Given the description of an element on the screen output the (x, y) to click on. 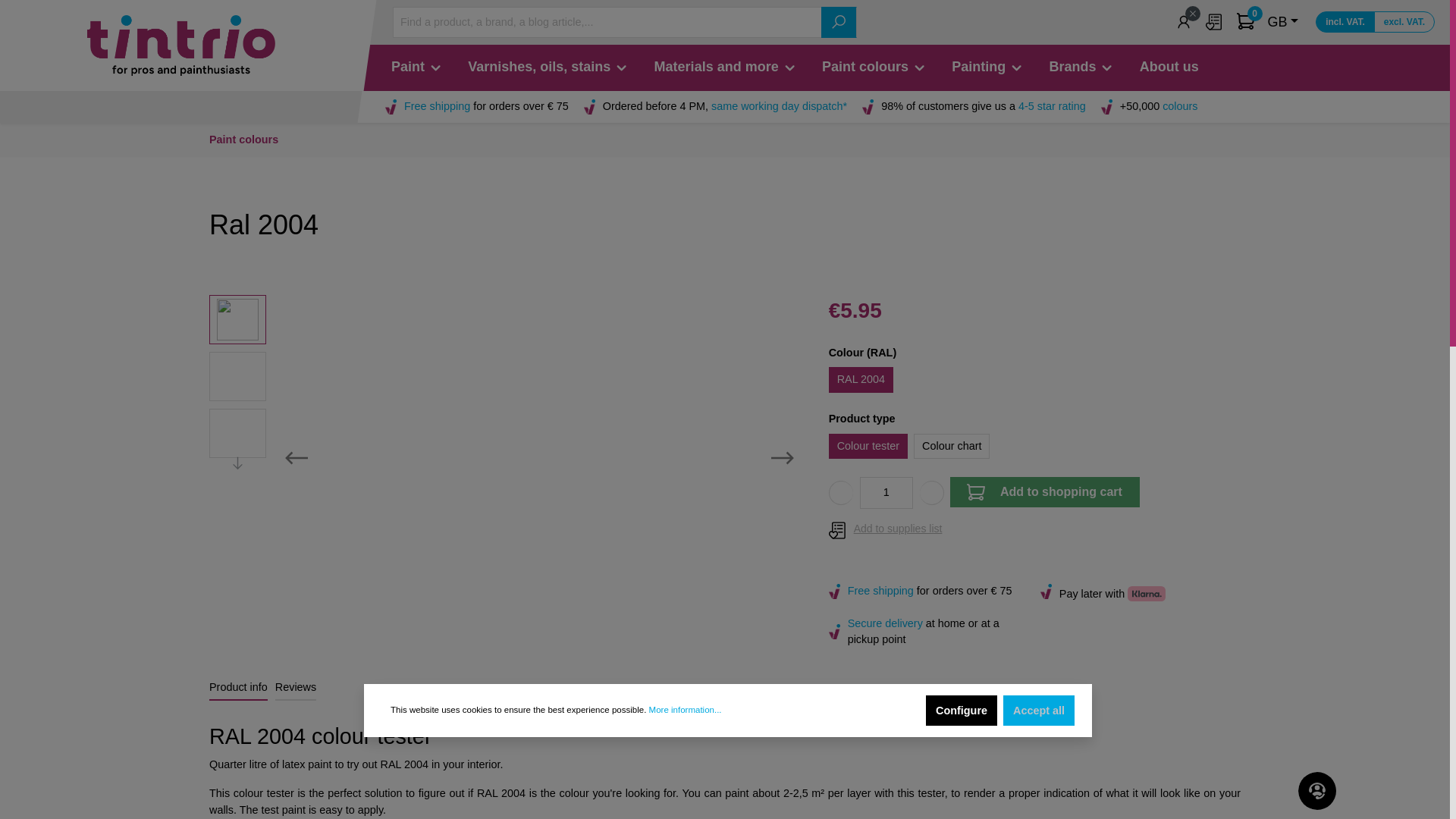
GB (1283, 22)
1 (886, 492)
Your account (1188, 21)
0 (1249, 21)
Materials and more (734, 67)
Shopping cart (1249, 21)
Paint (426, 67)
excl. VAT. (1404, 21)
Paint colours (883, 67)
gb (1283, 22)
Buy paint online at Tintrio (181, 45)
Varnishes, oils, stains (557, 67)
Paint (426, 67)
incl. VAT. (1345, 21)
About us (1178, 67)
